Given the description of an element on the screen output the (x, y) to click on. 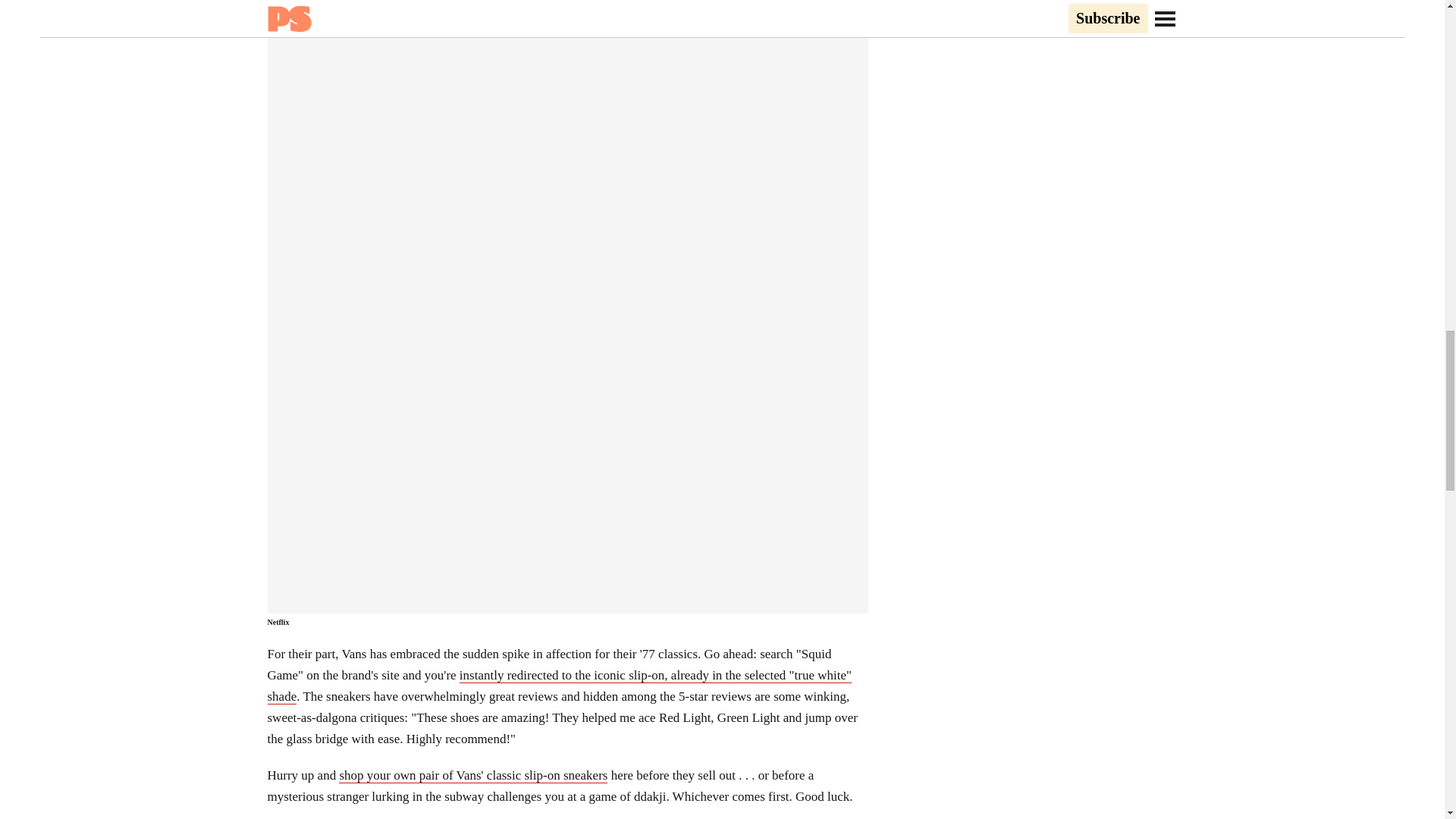
shop your own pair of Vans' classic slip-on sneakers (473, 775)
Netflix (277, 622)
